Given the description of an element on the screen output the (x, y) to click on. 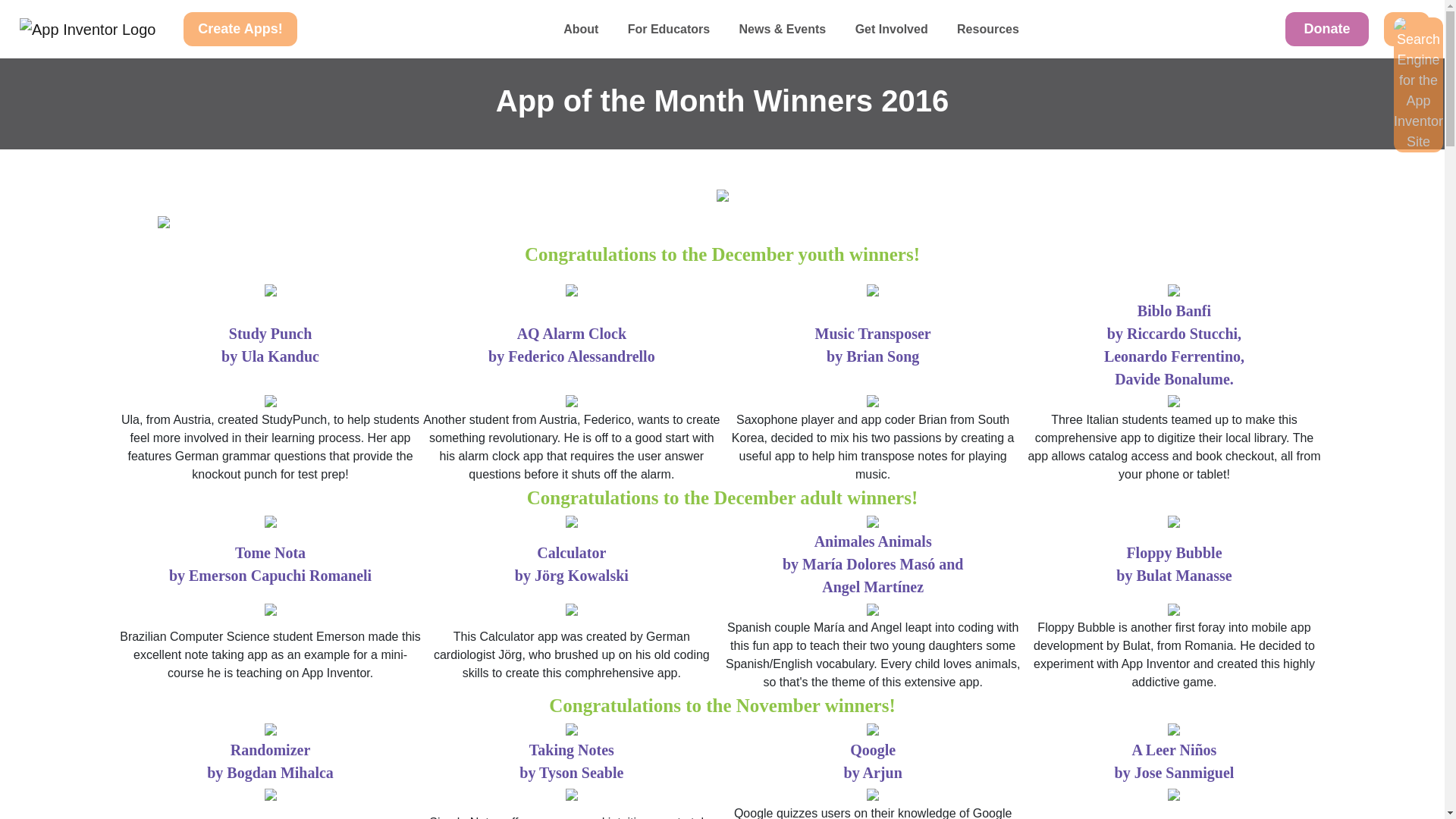
Create Apps! (240, 28)
Resources (987, 28)
Get Involved (891, 28)
About (580, 28)
Donate (1334, 28)
For Educators (668, 28)
Donate (1326, 28)
